Given the description of an element on the screen output the (x, y) to click on. 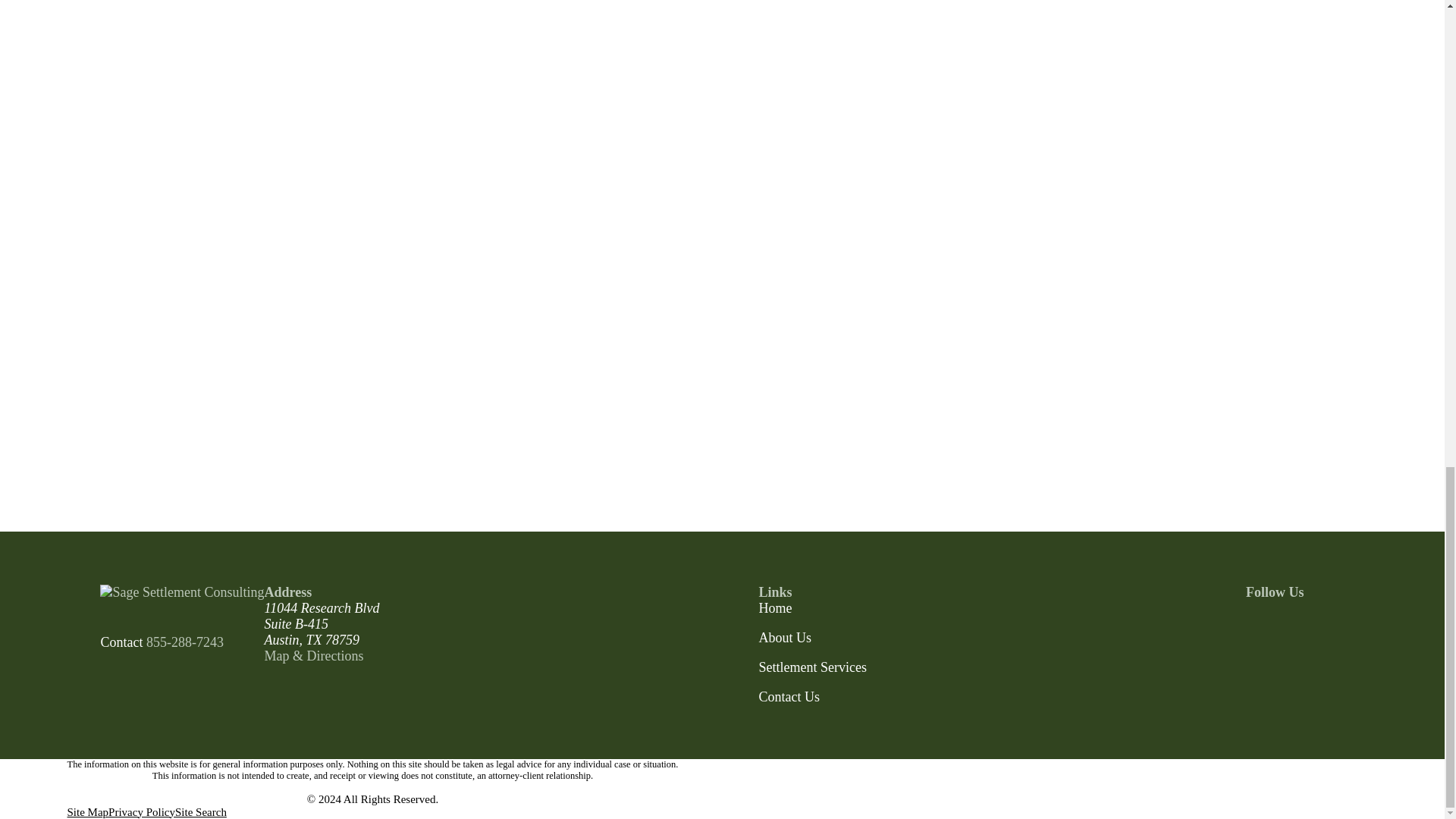
LinkedIn2 (1294, 623)
Home (181, 592)
Facebook (1255, 623)
BBB.org (1333, 623)
